Given the description of an element on the screen output the (x, y) to click on. 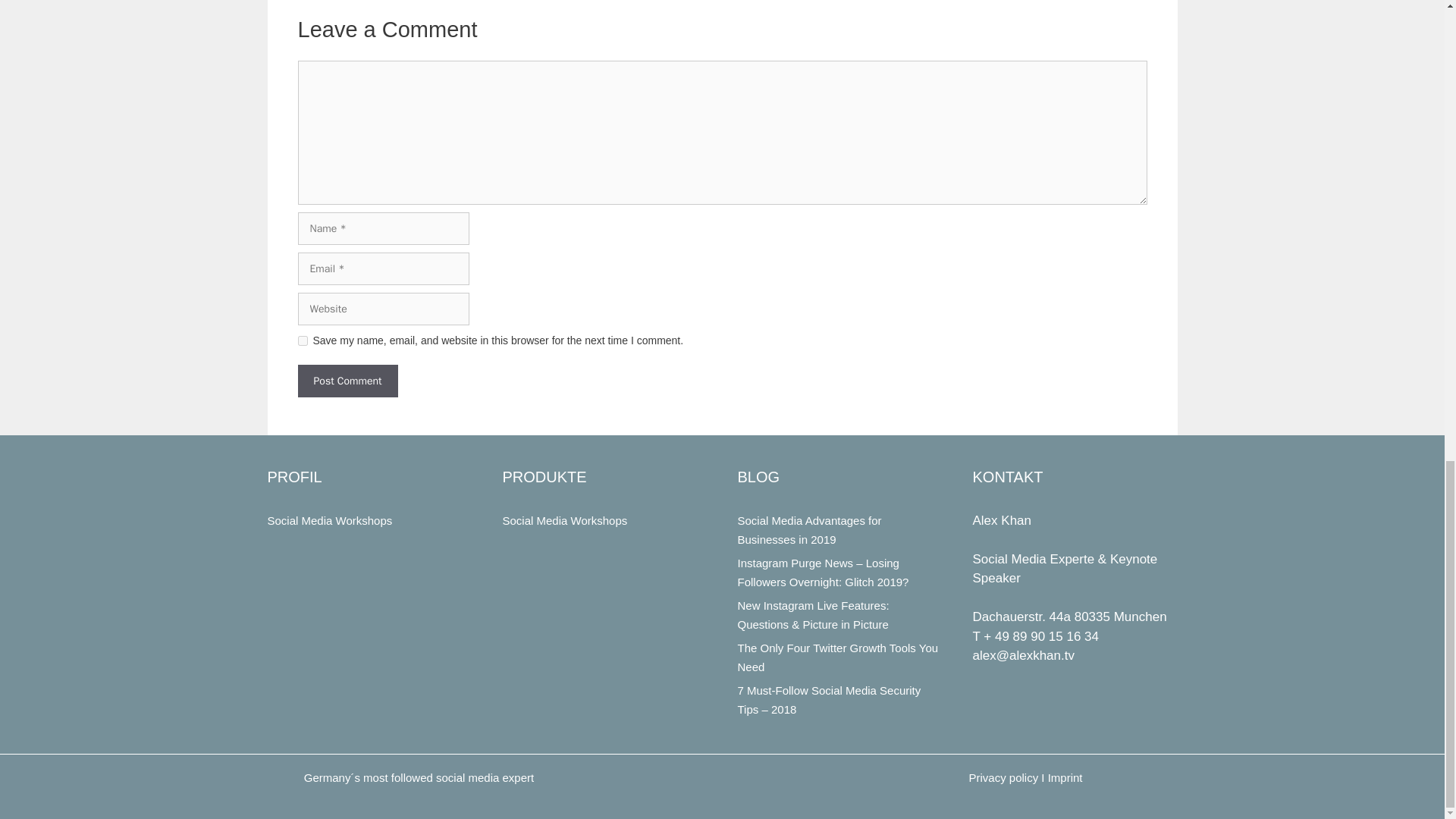
yes (302, 340)
Post Comment (347, 380)
Social Media Workshops (328, 520)
Post Comment (347, 380)
